Given the description of an element on the screen output the (x, y) to click on. 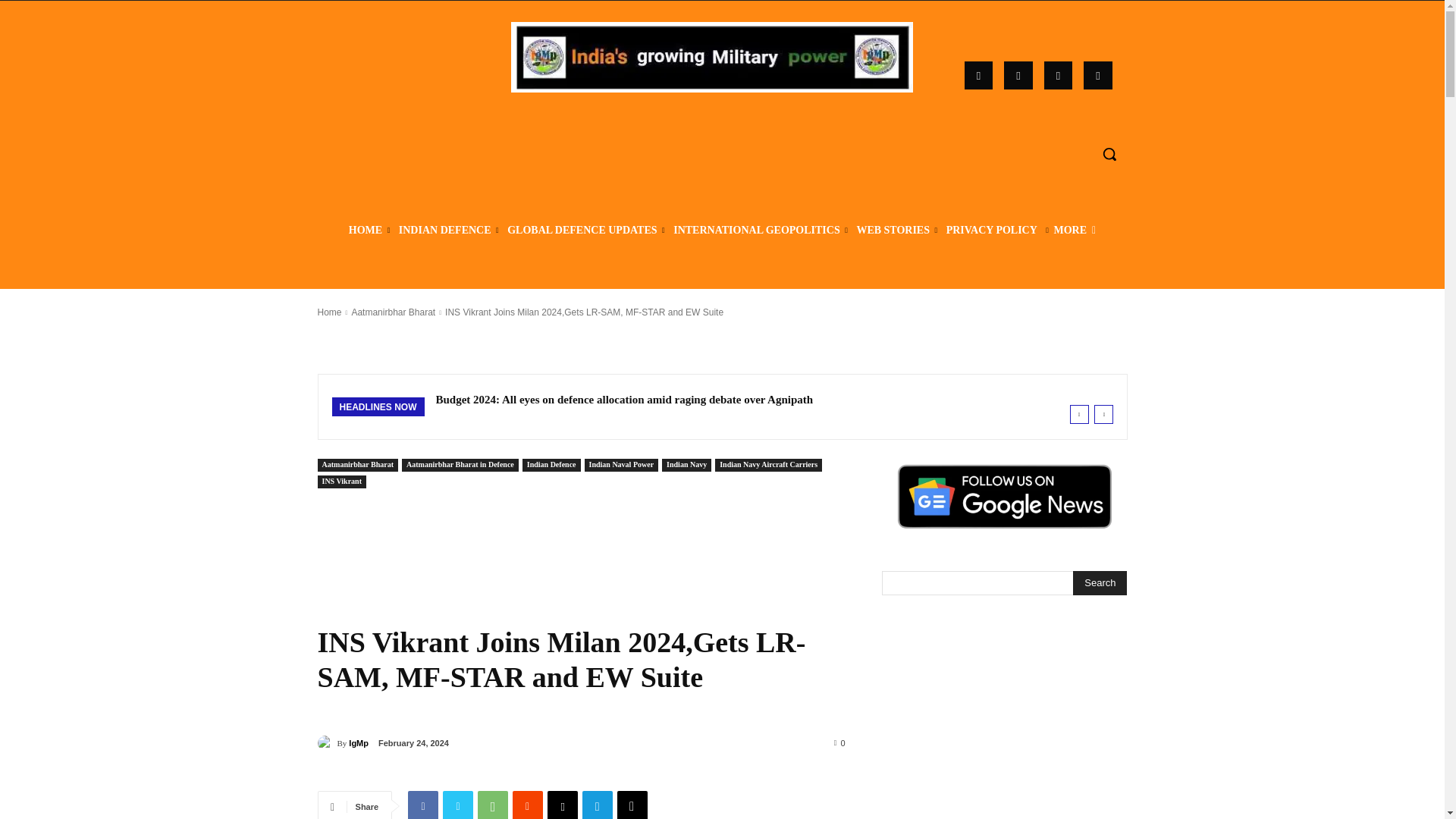
PRIVACY POLICY (991, 230)
INDIAN DEFENCE (444, 230)
Facebook (977, 75)
Instagram (1018, 75)
Twitter (1097, 75)
HOME (365, 230)
GLOBAL DEFENCE UPDATES (582, 230)
Koo (1058, 75)
WEB STORIES (892, 230)
INTERNATIONAL GEOPOLITICS (756, 230)
